Given the description of an element on the screen output the (x, y) to click on. 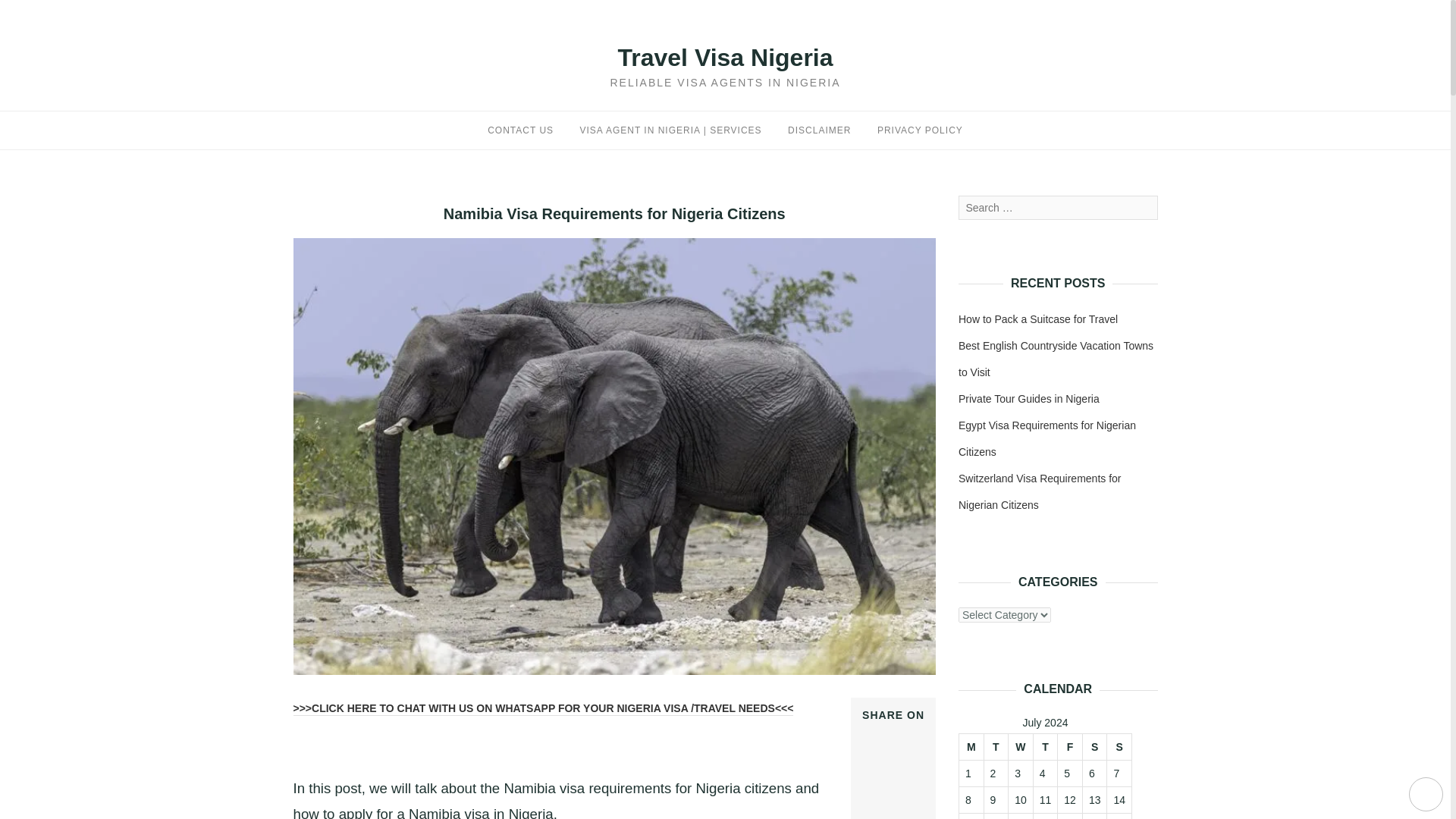
Travel Visa Nigeria (724, 57)
How to Pack a Suitcase for Travel (1038, 318)
Saturday (1093, 746)
Tuesday (996, 746)
Share this on Facebook (884, 732)
FACEBOOK (884, 732)
Egypt Visa Requirements for Nigerian Citizens (1046, 438)
PRIVACY POLICY (919, 130)
Tweet on Twitter (880, 749)
Sunday (1119, 746)
Pin it on Pinterest (885, 784)
PINTEREST (885, 784)
Friday (1070, 746)
DISCLAIMER (818, 130)
Best English Countryside Vacation Towns to Visit (1055, 358)
